Given the description of an element on the screen output the (x, y) to click on. 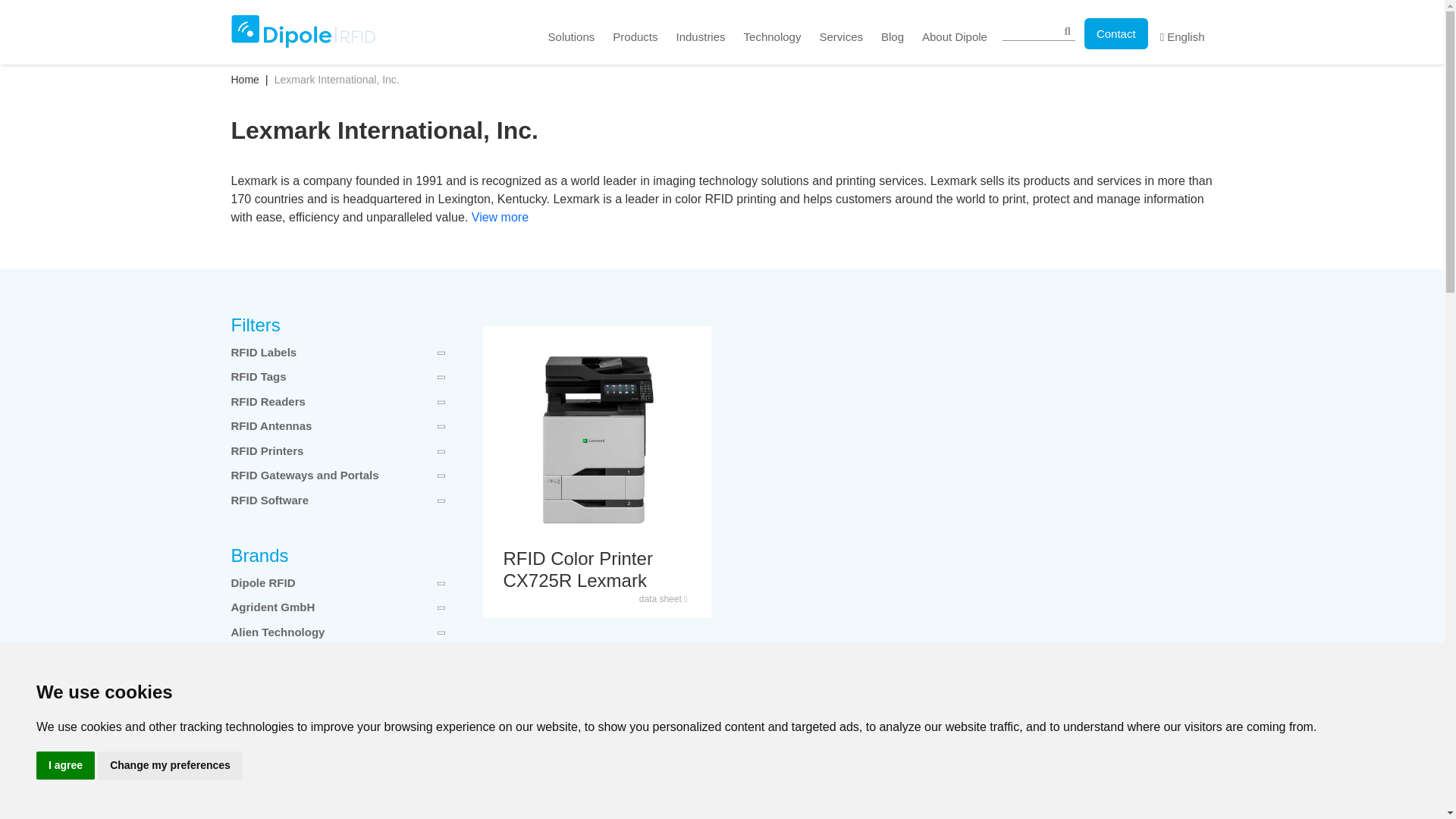
Change my preferences (170, 765)
Products (635, 34)
Solutions (571, 34)
I agree (65, 765)
Dipole RFID (302, 31)
